Given the description of an element on the screen output the (x, y) to click on. 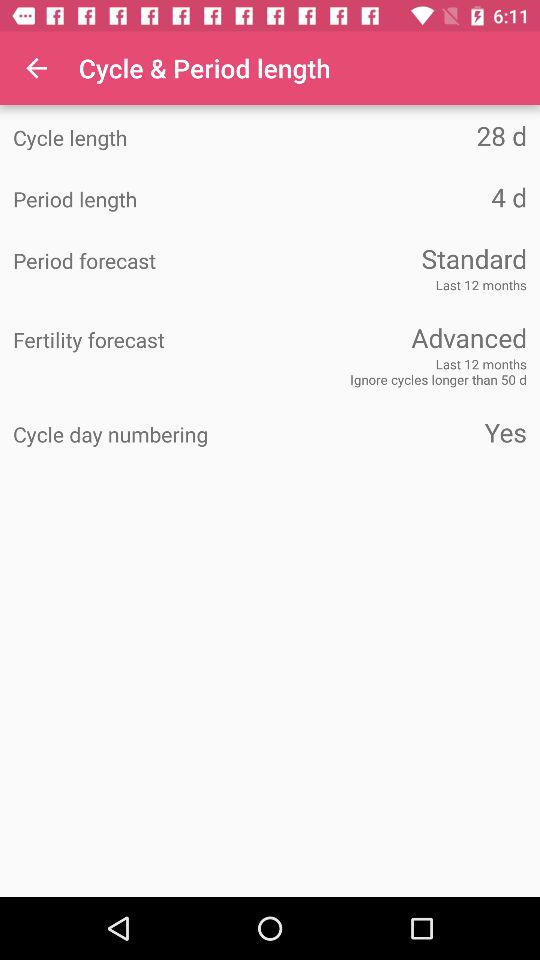
select the icon below the period length (398, 258)
